Given the description of an element on the screen output the (x, y) to click on. 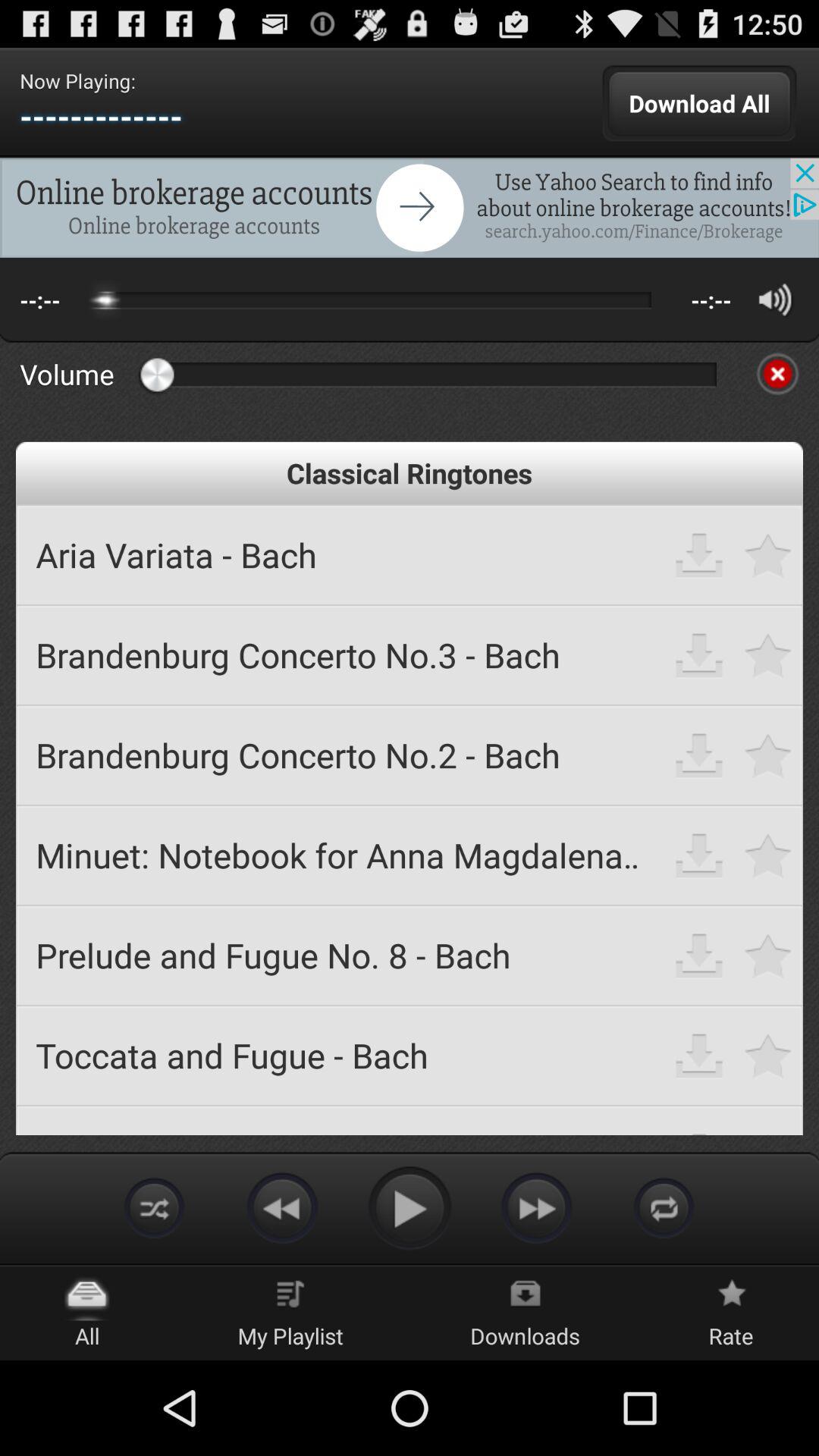
download ringtone (699, 754)
